Given the description of an element on the screen output the (x, y) to click on. 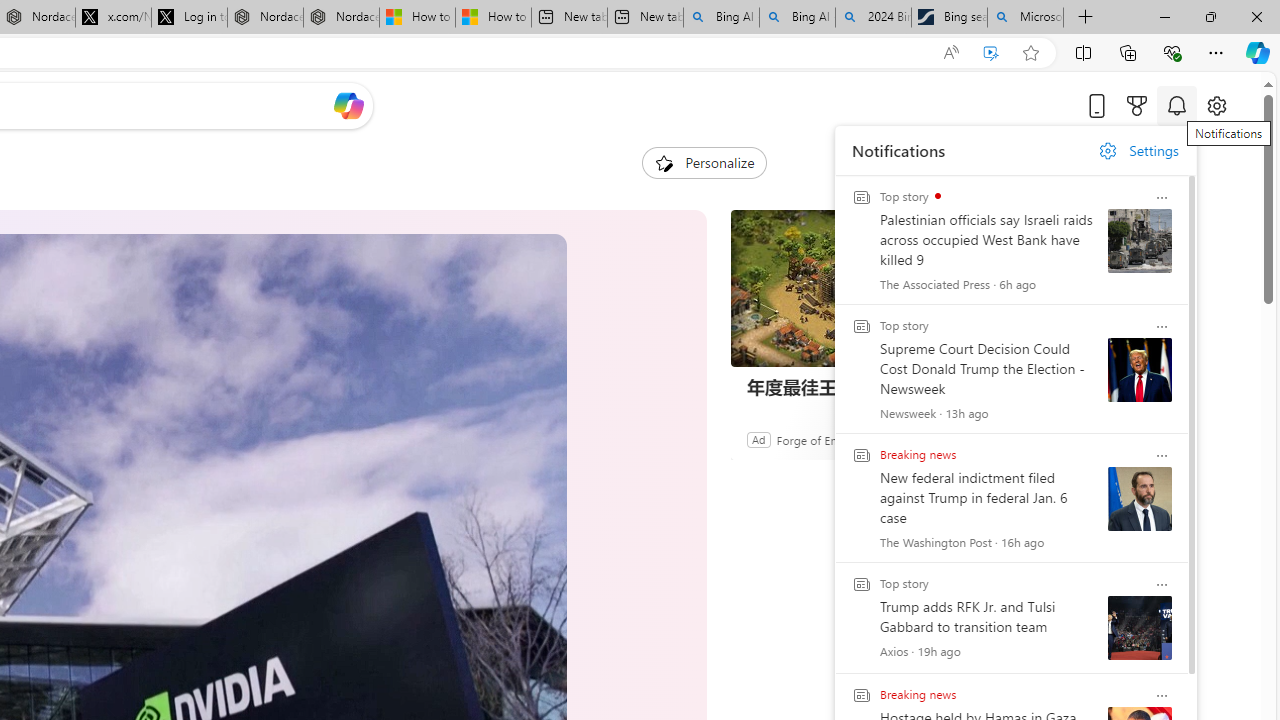
Bing search market share worldwide 2024 | Statista (948, 17)
Log in to X / X (189, 17)
Bing AI - Search (797, 17)
